Given the description of an element on the screen output the (x, y) to click on. 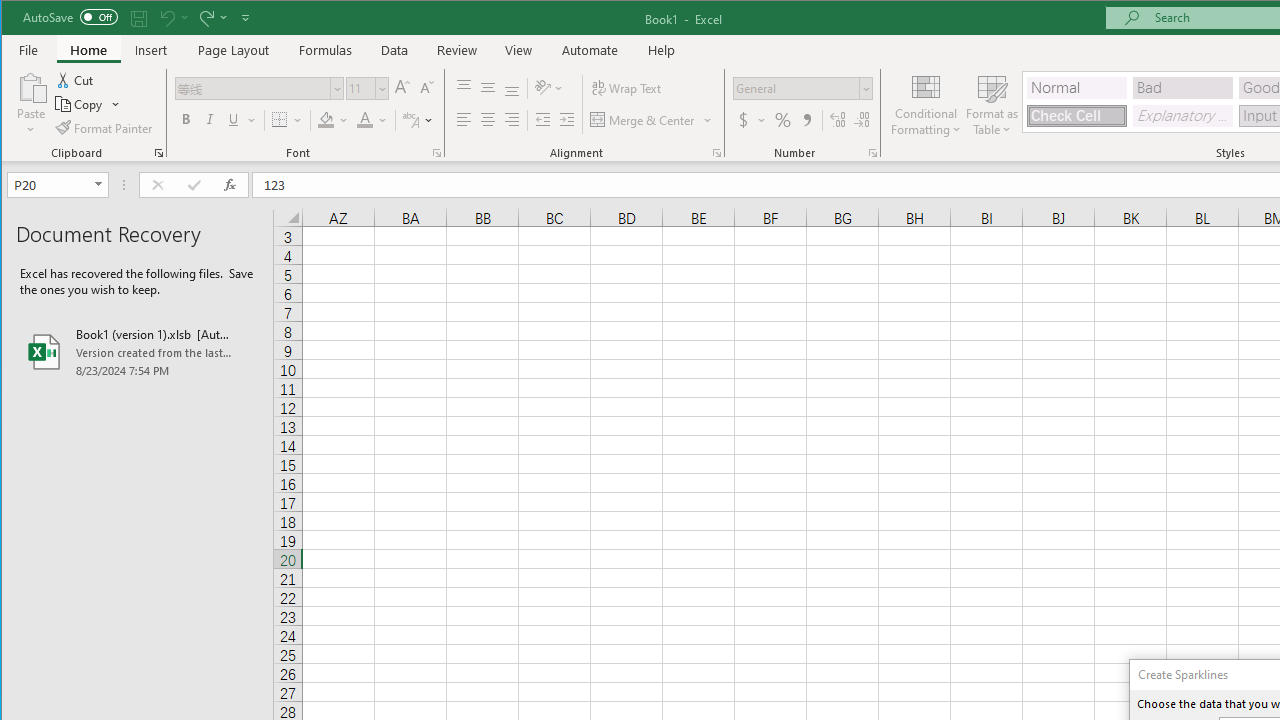
Copy (88, 103)
Paste (31, 104)
Check Cell (1077, 116)
Paste (31, 86)
Bottom Border (279, 119)
Center (488, 119)
Increase Font Size (401, 88)
Comma Style (806, 119)
Increase Indent (566, 119)
Format Cell Alignment (716, 152)
